Given the description of an element on the screen output the (x, y) to click on. 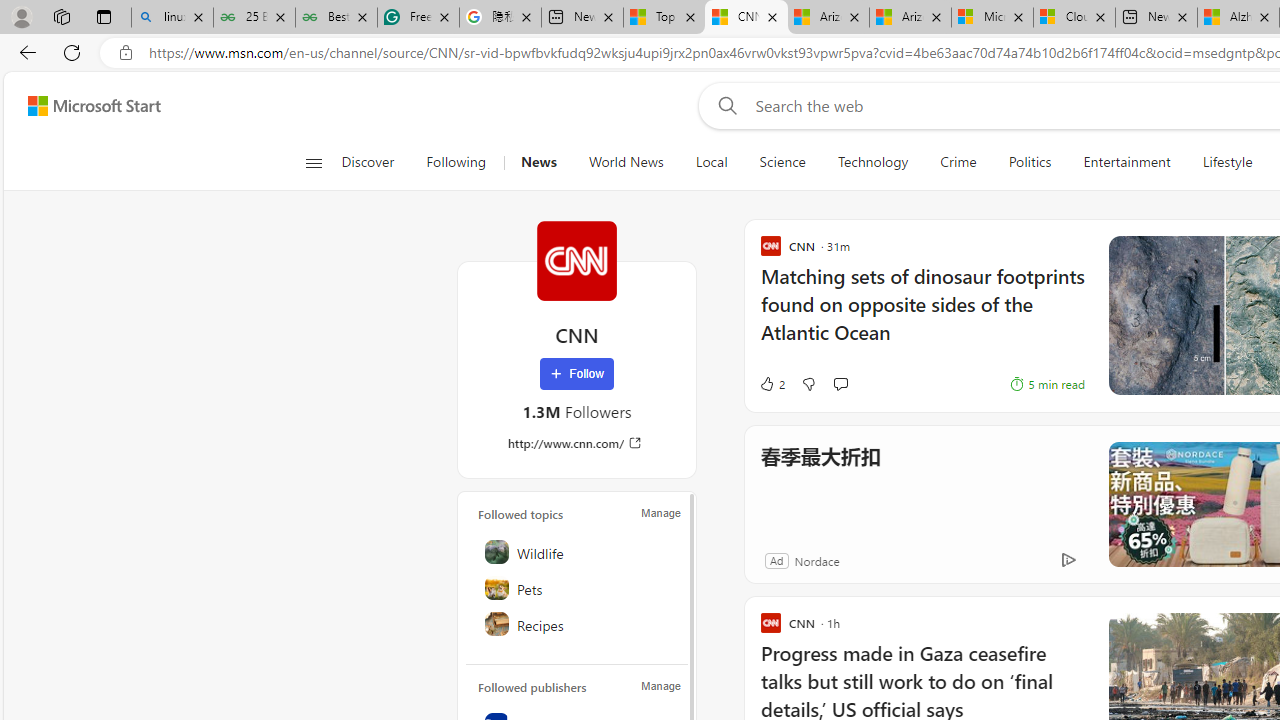
Follow (577, 373)
CNN - MSN (746, 17)
